Given the description of an element on the screen output the (x, y) to click on. 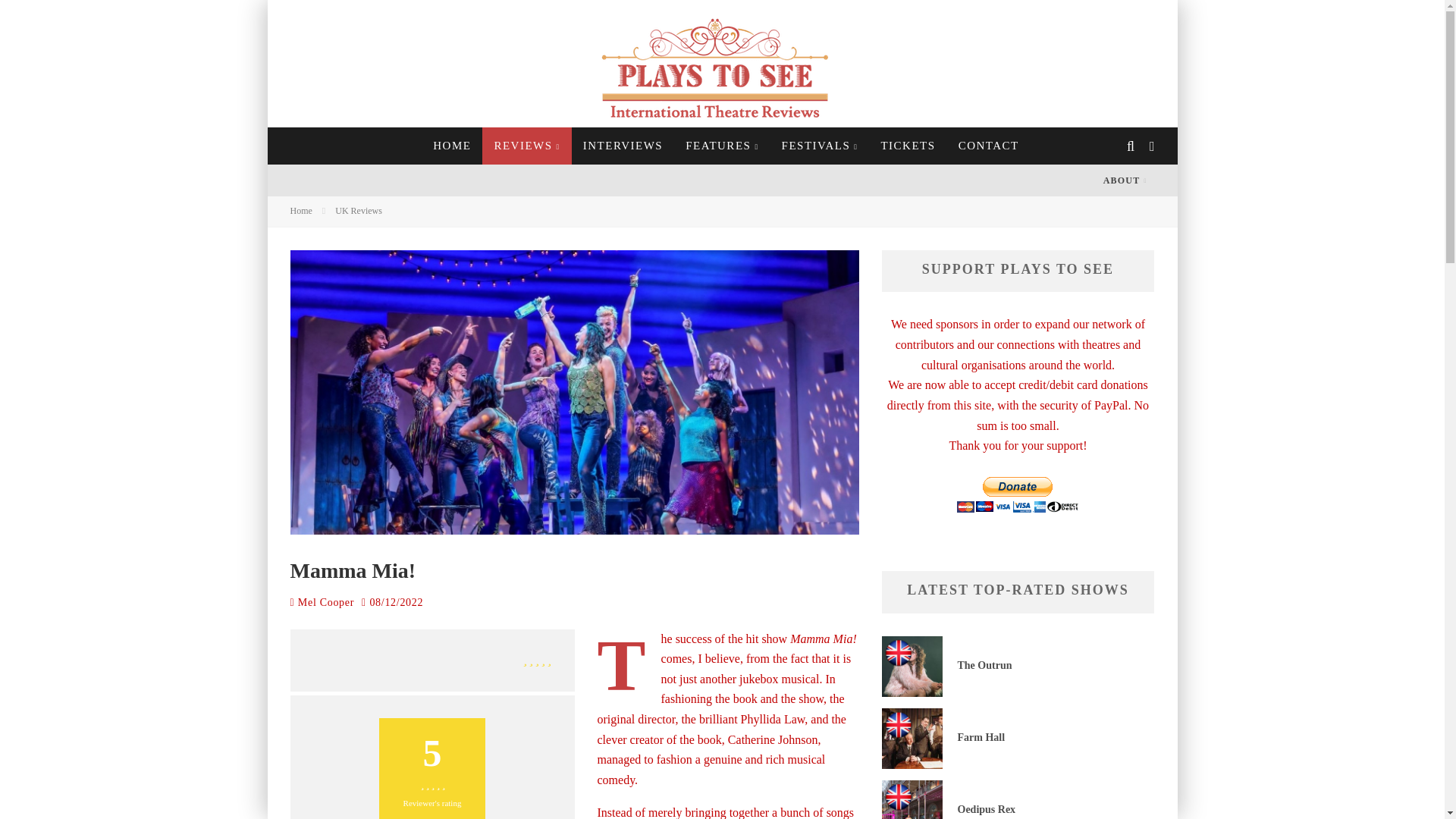
HOME (451, 145)
PayPal - The safer, easier way to pay online! (1017, 493)
REVIEWS (525, 145)
